Given the description of an element on the screen output the (x, y) to click on. 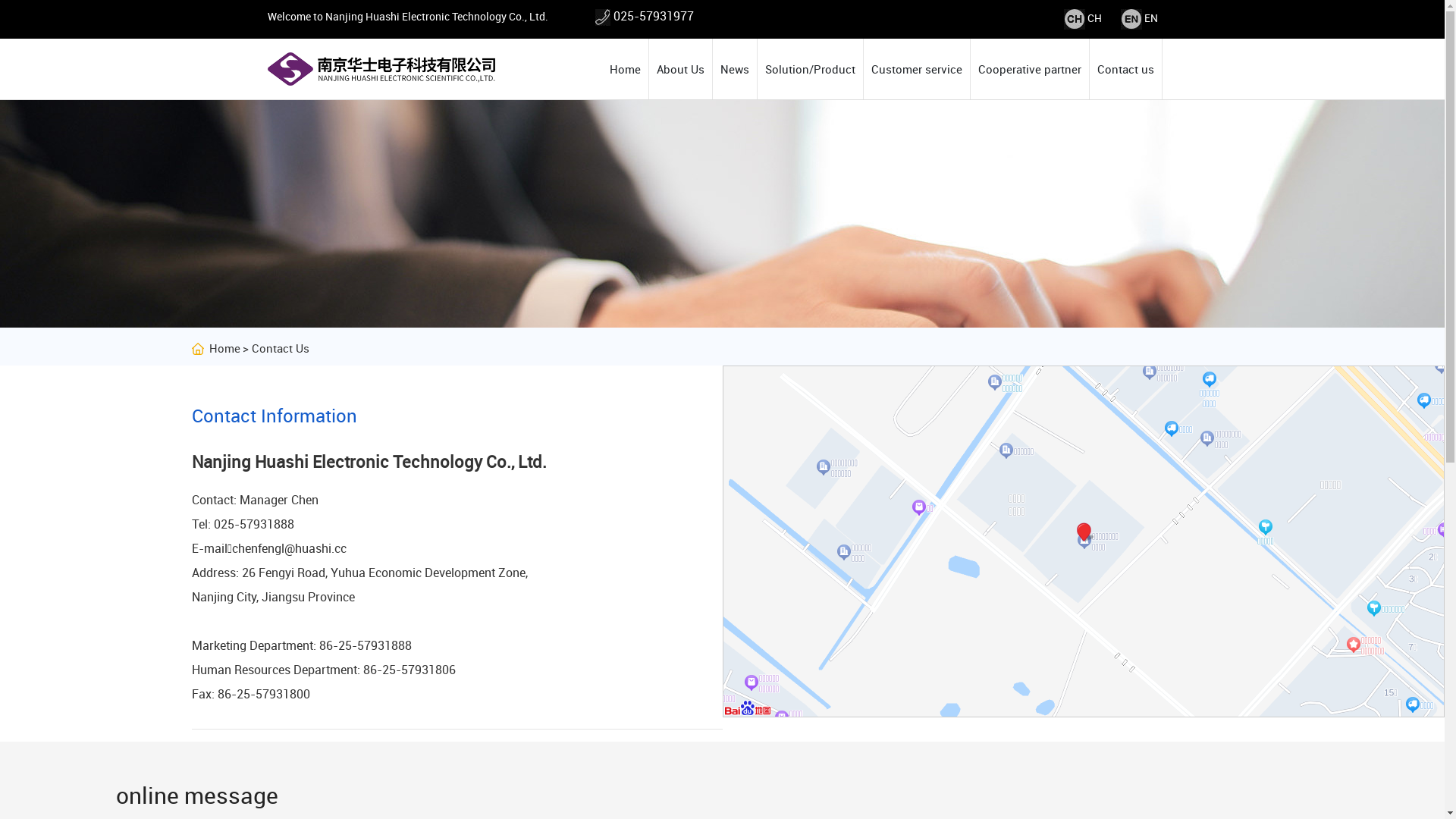
Home Element type: text (625, 68)
Cooperative partner Element type: text (1029, 68)
Contact us Element type: text (1124, 68)
News Element type: text (734, 68)
Home Element type: text (215, 347)
Solution/Product Element type: text (809, 68)
EN Element type: text (1150, 17)
About Us Element type: text (680, 68)
Customer service Element type: text (915, 68)
CH Element type: text (1094, 17)
